Given the description of an element on the screen output the (x, y) to click on. 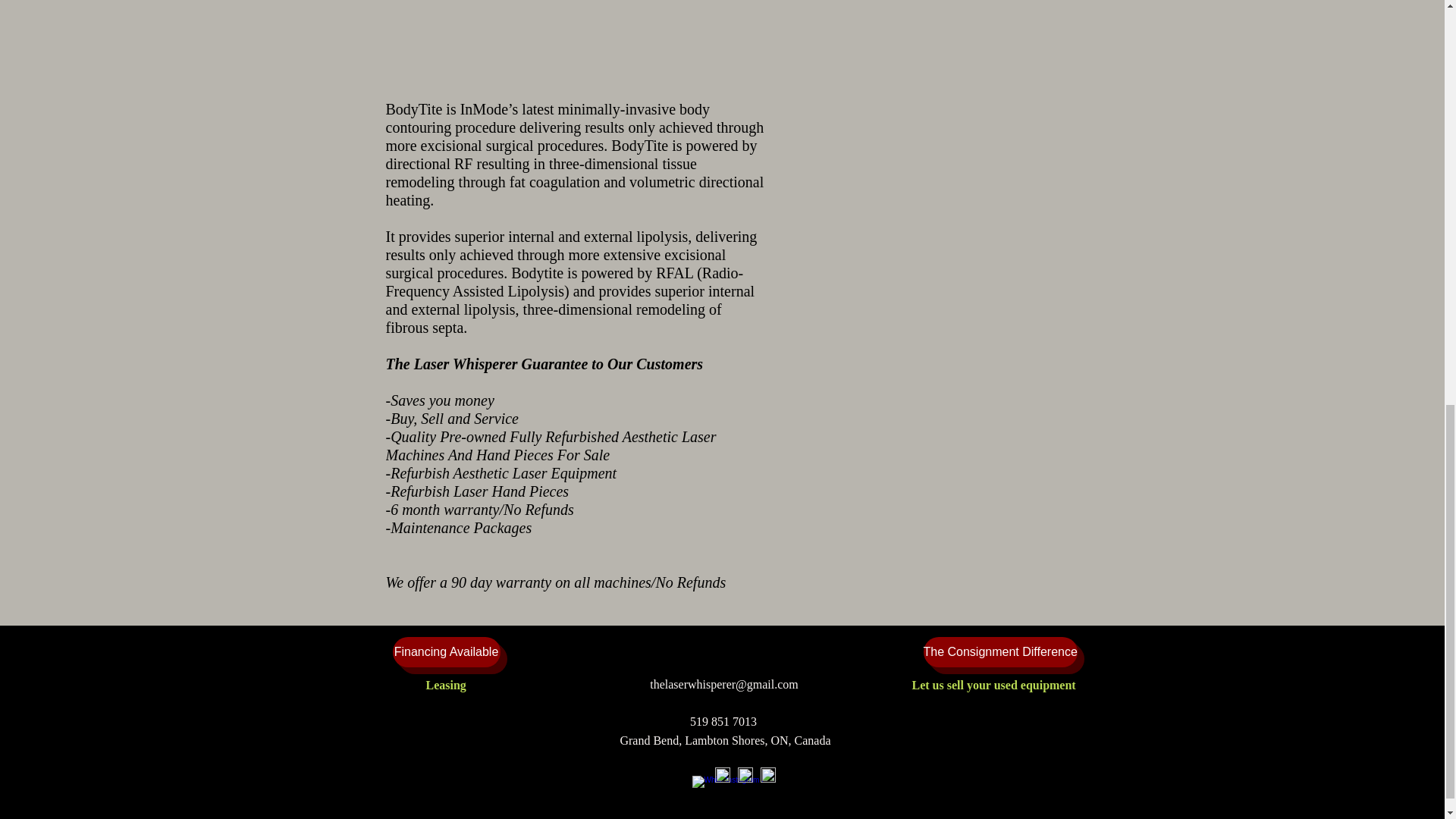
Financing Available (446, 652)
The Consignment Difference (1000, 652)
